Given the description of an element on the screen output the (x, y) to click on. 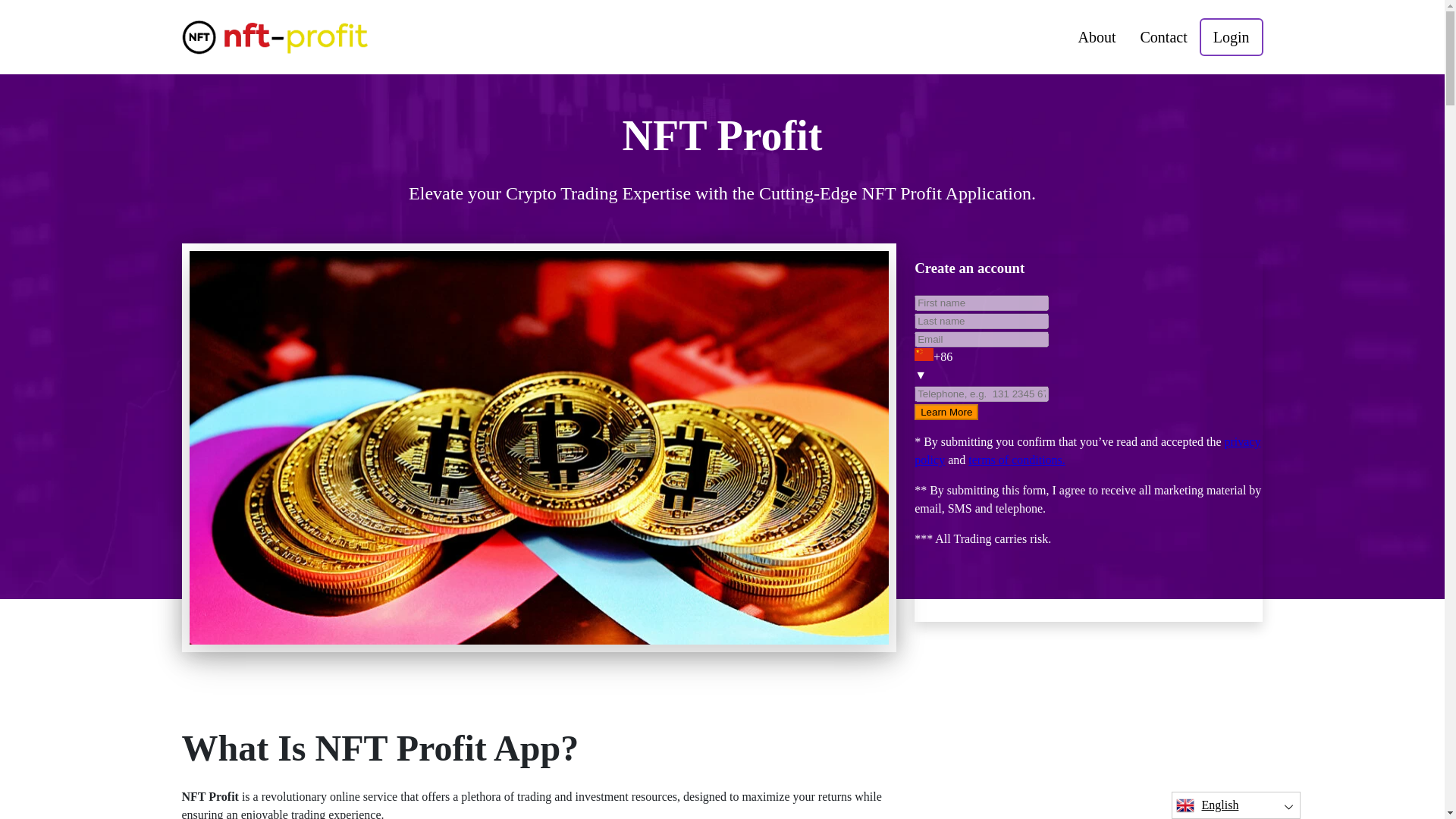
English (1236, 805)
About (1096, 36)
Contact (1163, 36)
Login (1231, 37)
